Given the description of an element on the screen output the (x, y) to click on. 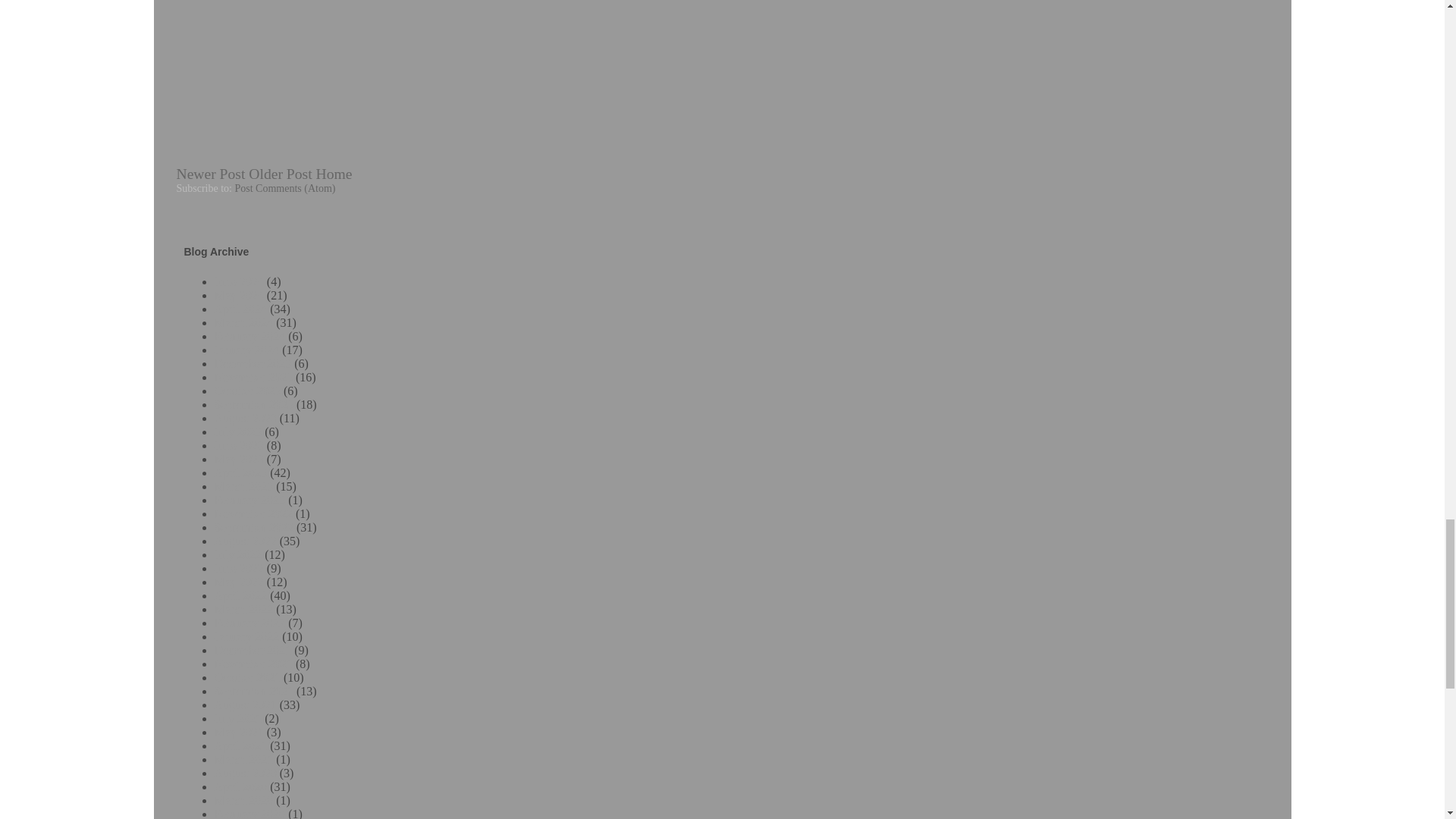
Newer Post (210, 173)
June 2024 (238, 281)
December 2023 (252, 363)
February 2024 (249, 336)
March 2024 (243, 322)
November 2023 (253, 377)
October 2023 (247, 390)
September 2023 (253, 404)
Home (333, 173)
Older Post (279, 173)
Newer Post (210, 173)
January 2024 (246, 349)
August 2023 (245, 418)
Older Post (279, 173)
May 2024 (238, 295)
